Given the description of an element on the screen output the (x, y) to click on. 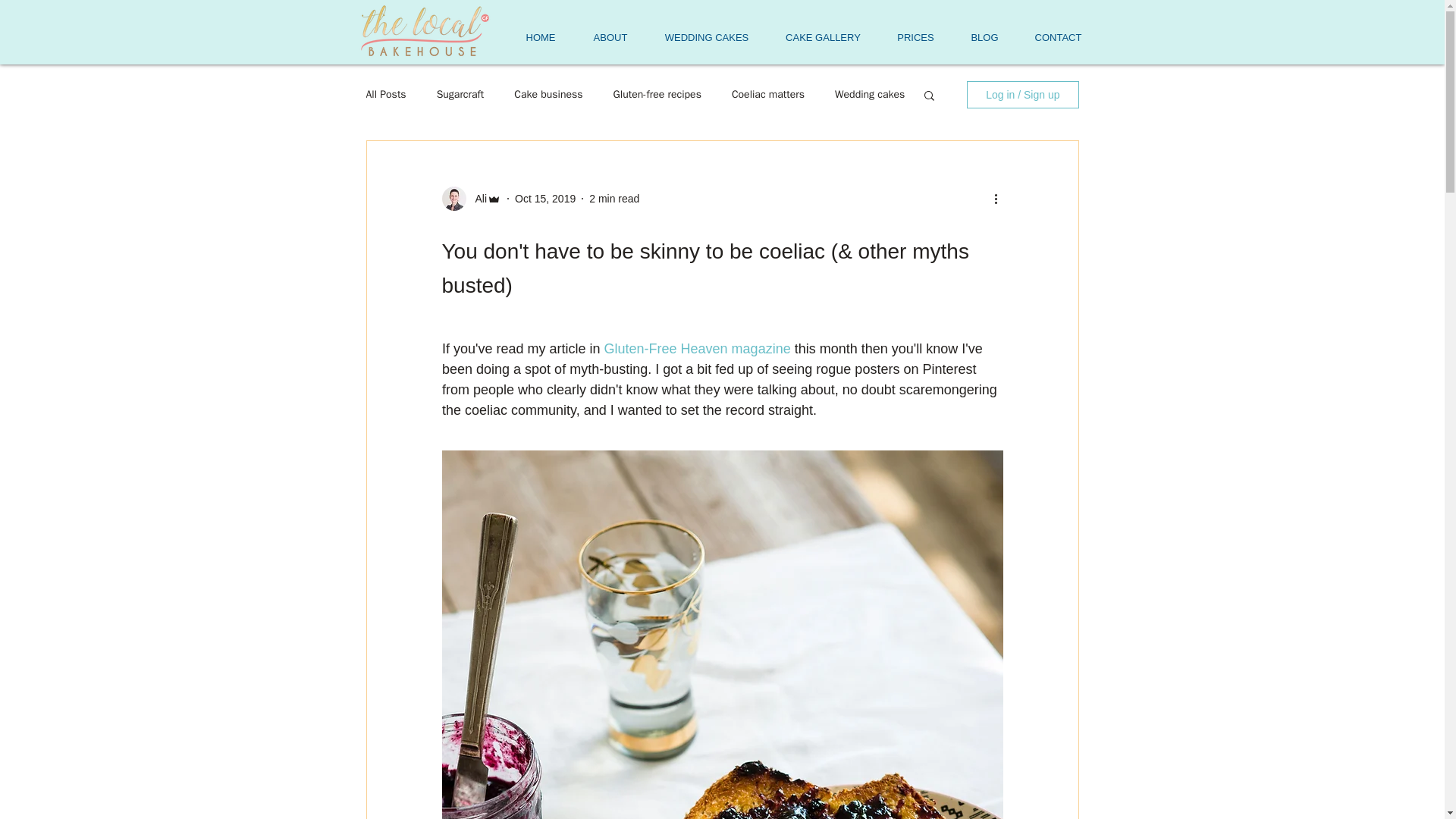
2 min read (614, 198)
All Posts (385, 94)
Gluten-free recipes (656, 94)
HOME (539, 37)
CONTACT (1058, 37)
WEDDING CAKES (706, 37)
CAKE GALLERY (823, 37)
Cake business (547, 94)
ABOUT (610, 37)
Gluten-Free Heaven magazine (697, 348)
Oct 15, 2019 (545, 198)
BLOG (984, 37)
Ali (475, 198)
PRICES (915, 37)
Coeliac matters (768, 94)
